Given the description of an element on the screen output the (x, y) to click on. 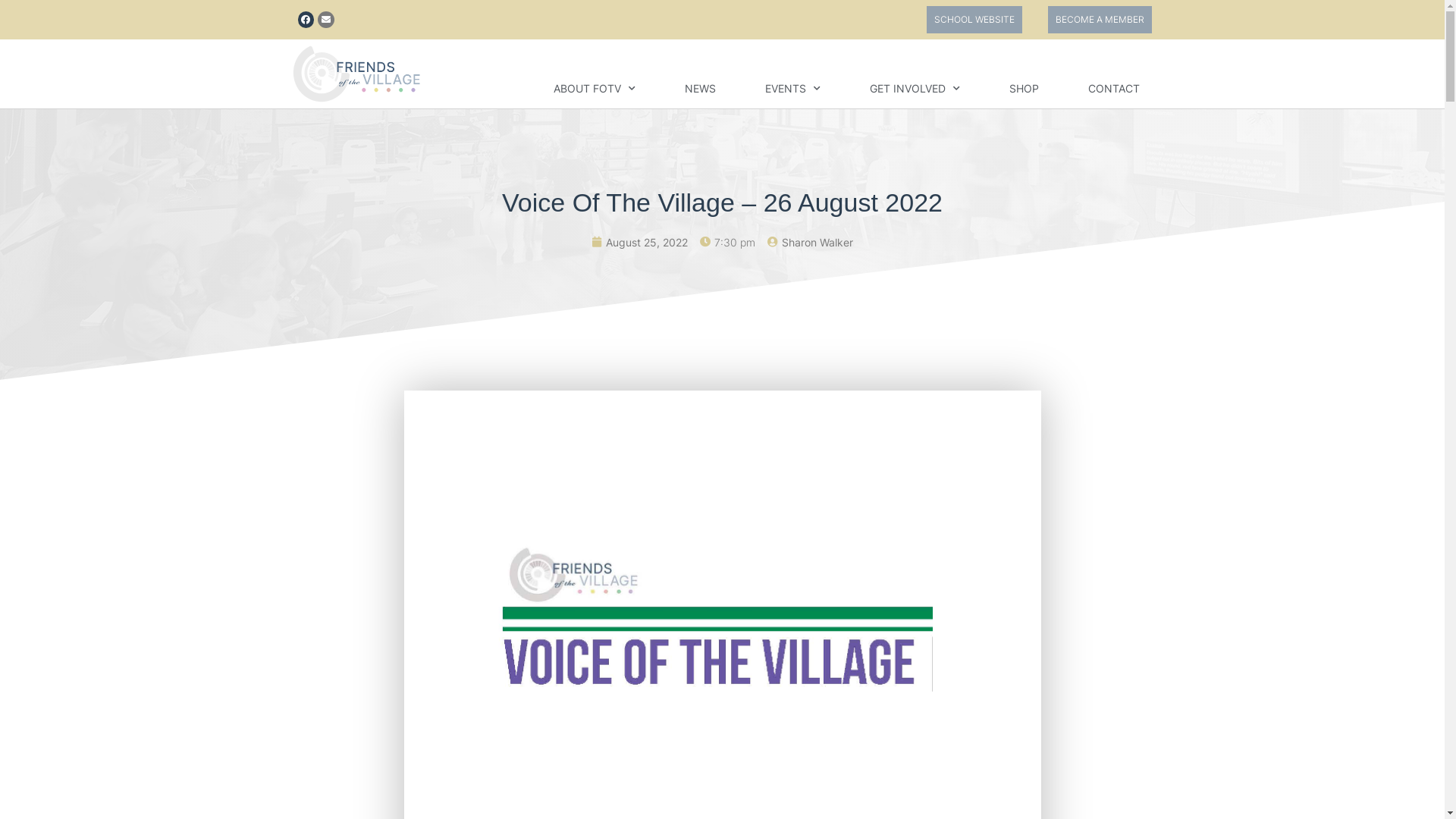
SCHOOL WEBSITE Element type: text (974, 19)
CONTACT Element type: text (1113, 88)
SHOP Element type: text (1023, 88)
NEWS Element type: text (699, 88)
Sharon Walker Element type: text (810, 242)
EVENTS Element type: text (791, 88)
ABOUT FOTV Element type: text (594, 88)
August 25, 2022 Element type: text (639, 242)
GET INVOLVED Element type: text (913, 88)
BECOME A MEMBER Element type: text (1099, 19)
